Given the description of an element on the screen output the (x, y) to click on. 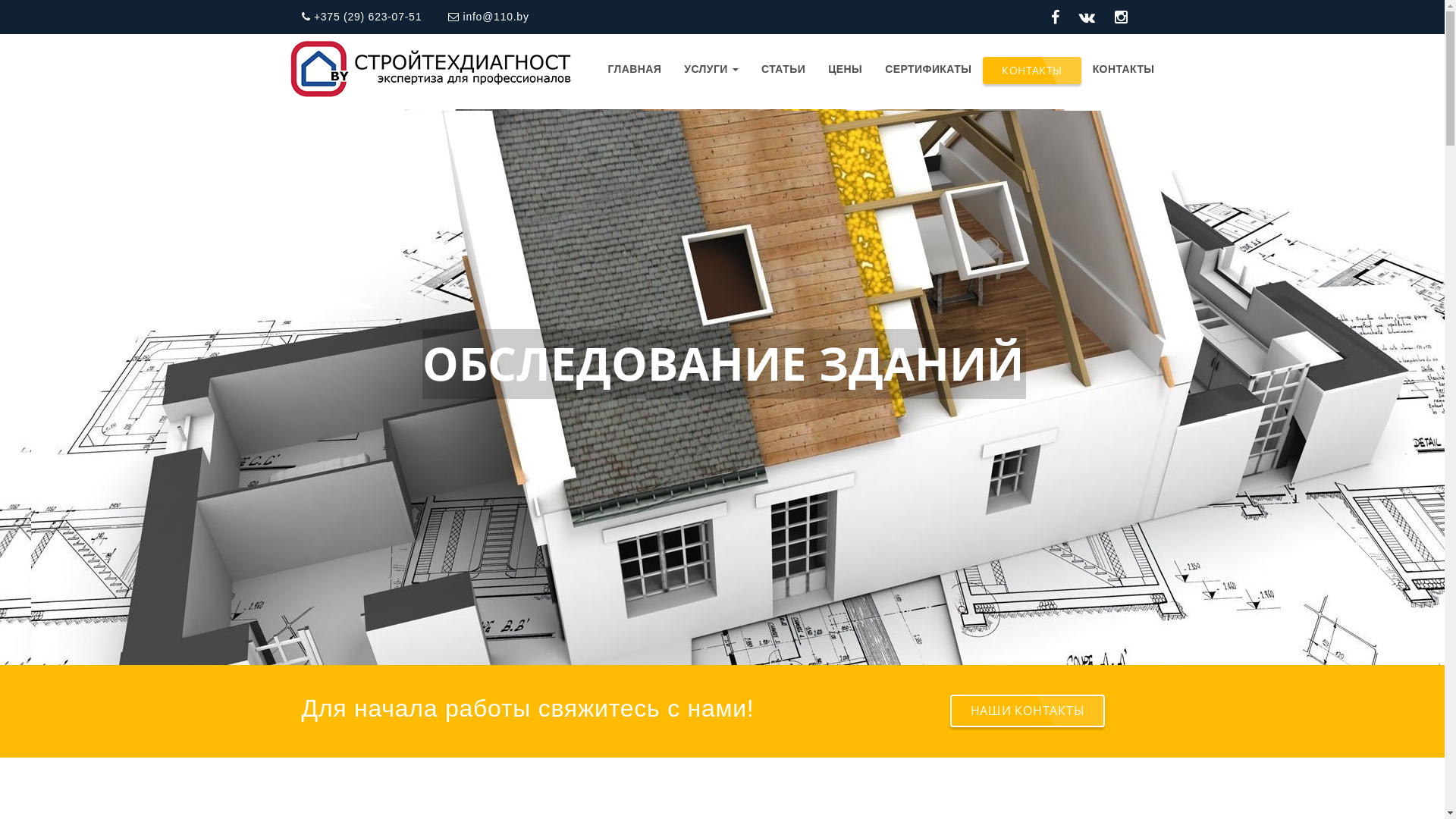
info@110.by Element type: text (488, 16)
+375 (29) 623-07-51 Element type: text (361, 16)
